Given the description of an element on the screen output the (x, y) to click on. 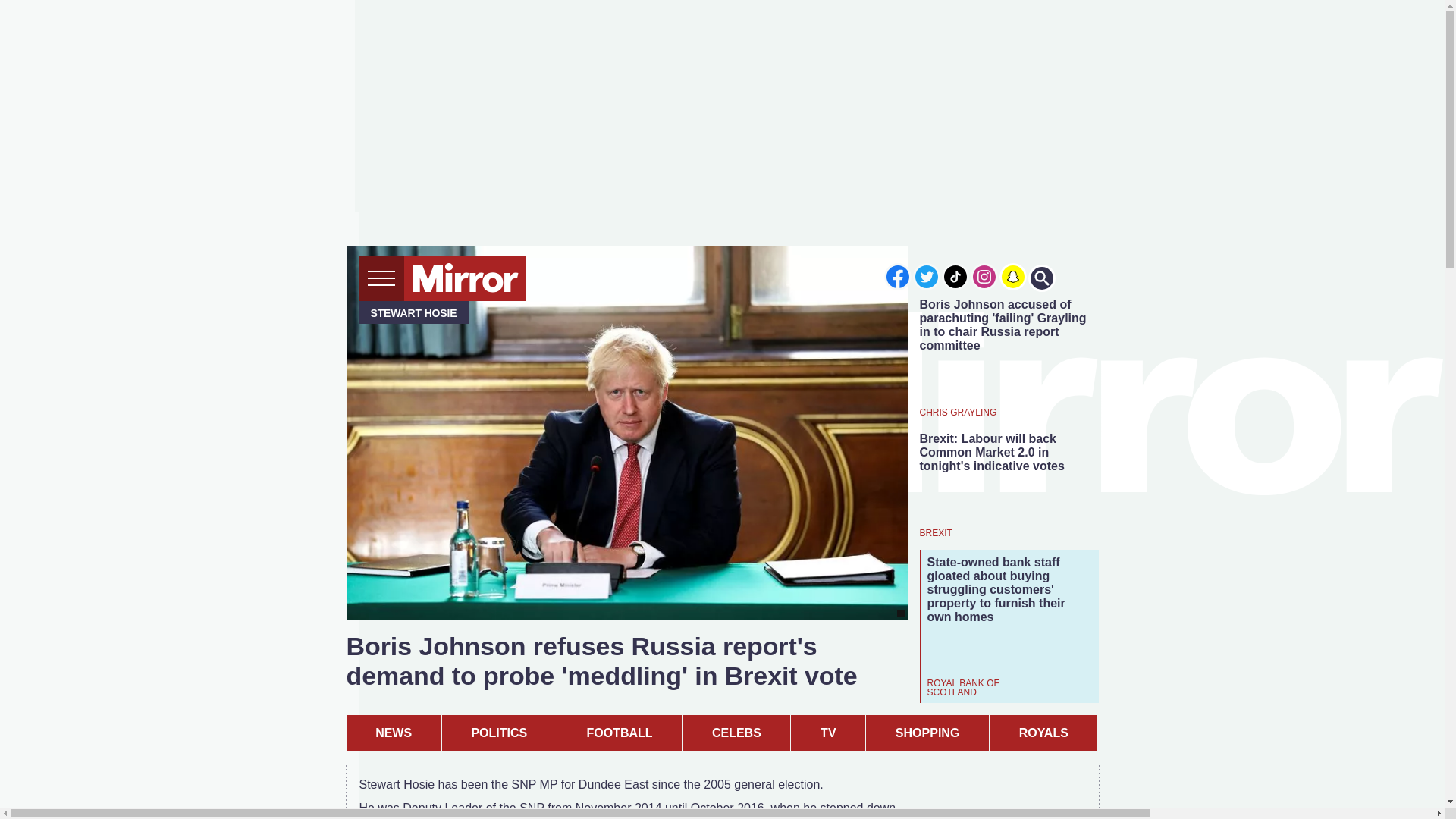
NEWS (393, 732)
BREXIT (935, 532)
ROYAL BANK OF SCOTLAND (987, 687)
twitter (926, 276)
CHRIS GRAYLING (956, 411)
CELEBS (736, 732)
ROYALS (1043, 732)
facebook (897, 276)
SHOPPING (927, 732)
TV (827, 732)
tiktok (955, 276)
instagram (984, 276)
